Given the description of an element on the screen output the (x, y) to click on. 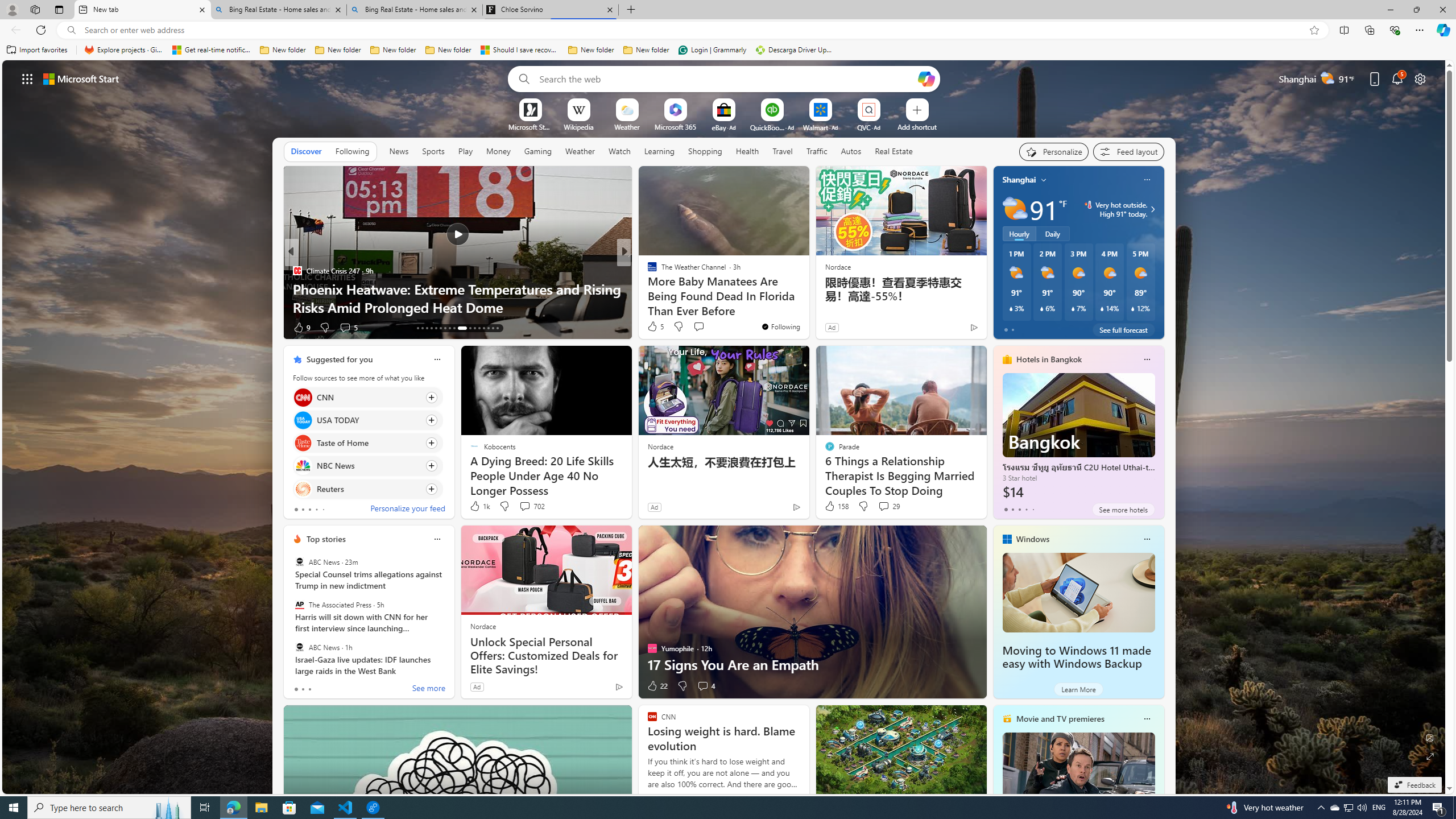
Learn More (1078, 689)
Daily (1052, 233)
View comments 19 Comment (703, 327)
Click to follow source CNN (367, 397)
View comments 2 Comment (698, 327)
AutomationID: tab-19 (444, 328)
View comments 29 Comment (888, 505)
View comments 6 Comment (703, 327)
